Given the description of an element on the screen output the (x, y) to click on. 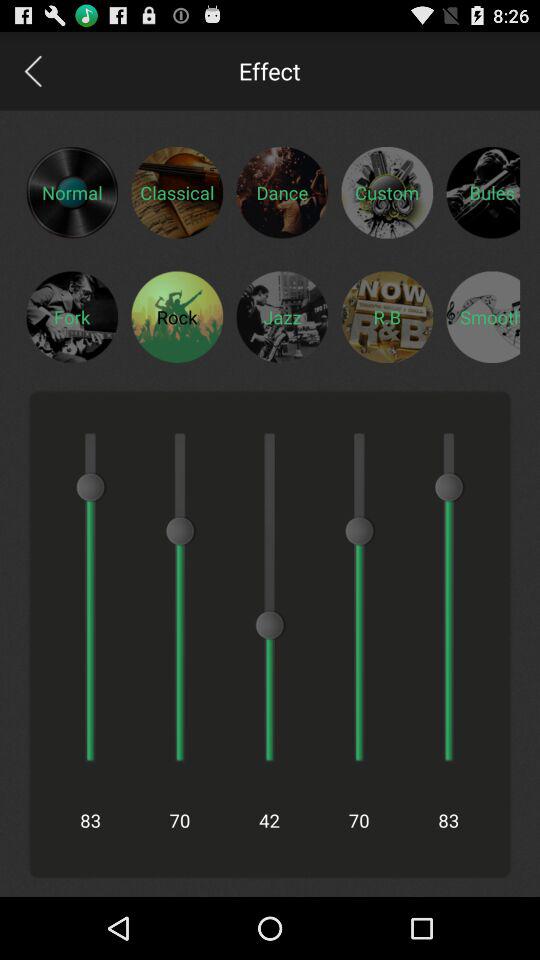
open this playlist (387, 316)
